Given the description of an element on the screen output the (x, y) to click on. 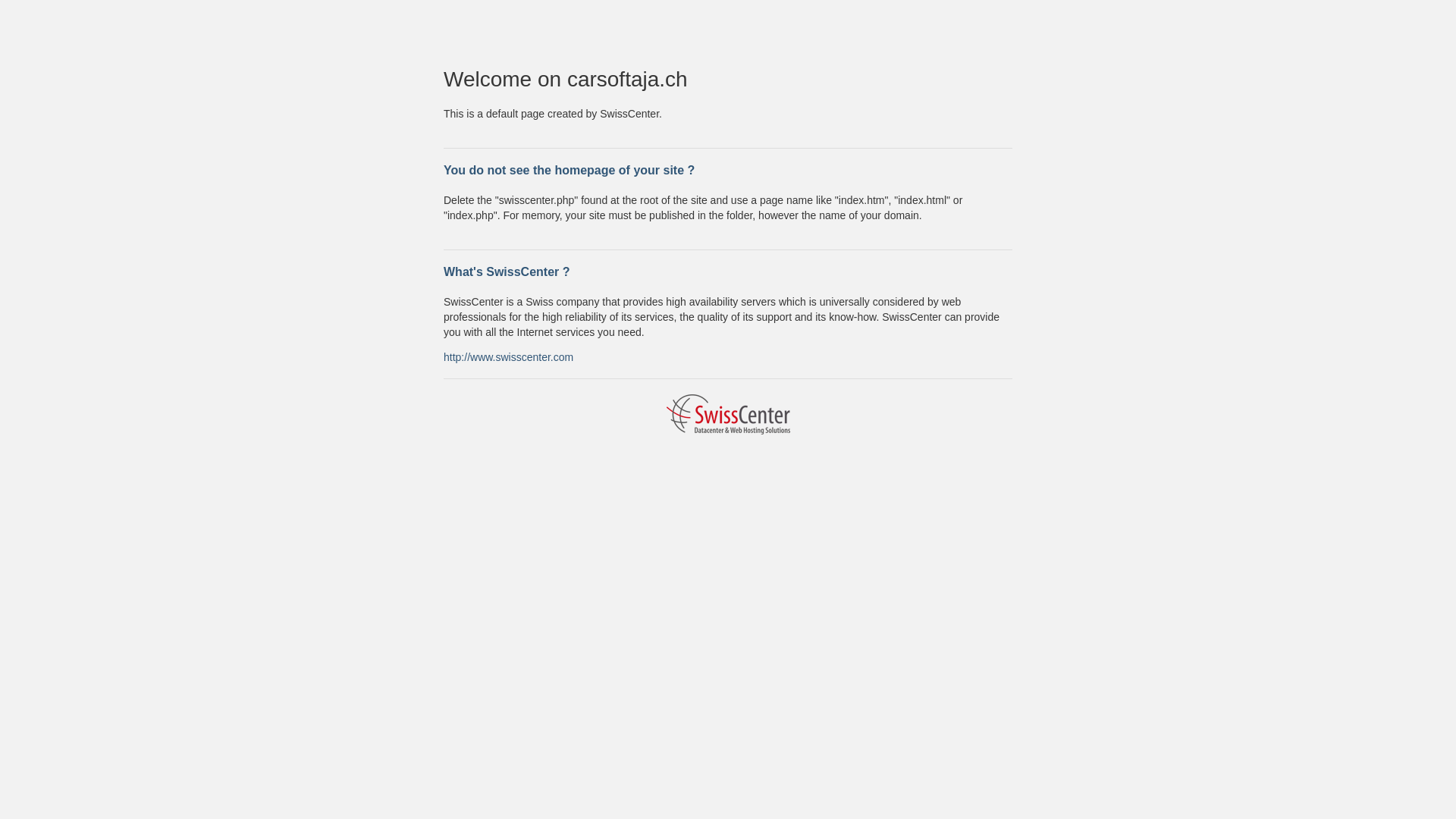
http://www.swisscenter.com Element type: text (508, 356)
